Given the description of an element on the screen output the (x, y) to click on. 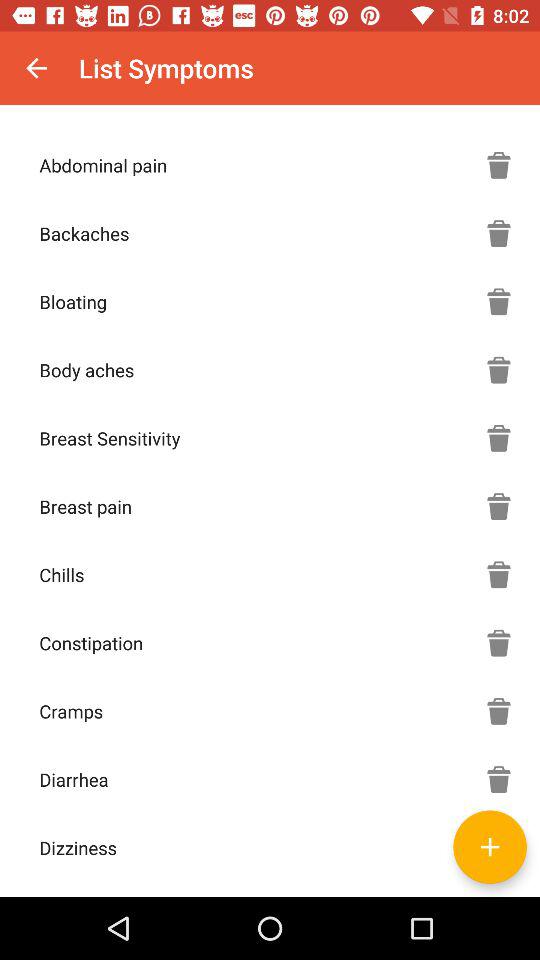
delete option (499, 165)
